Given the description of an element on the screen output the (x, y) to click on. 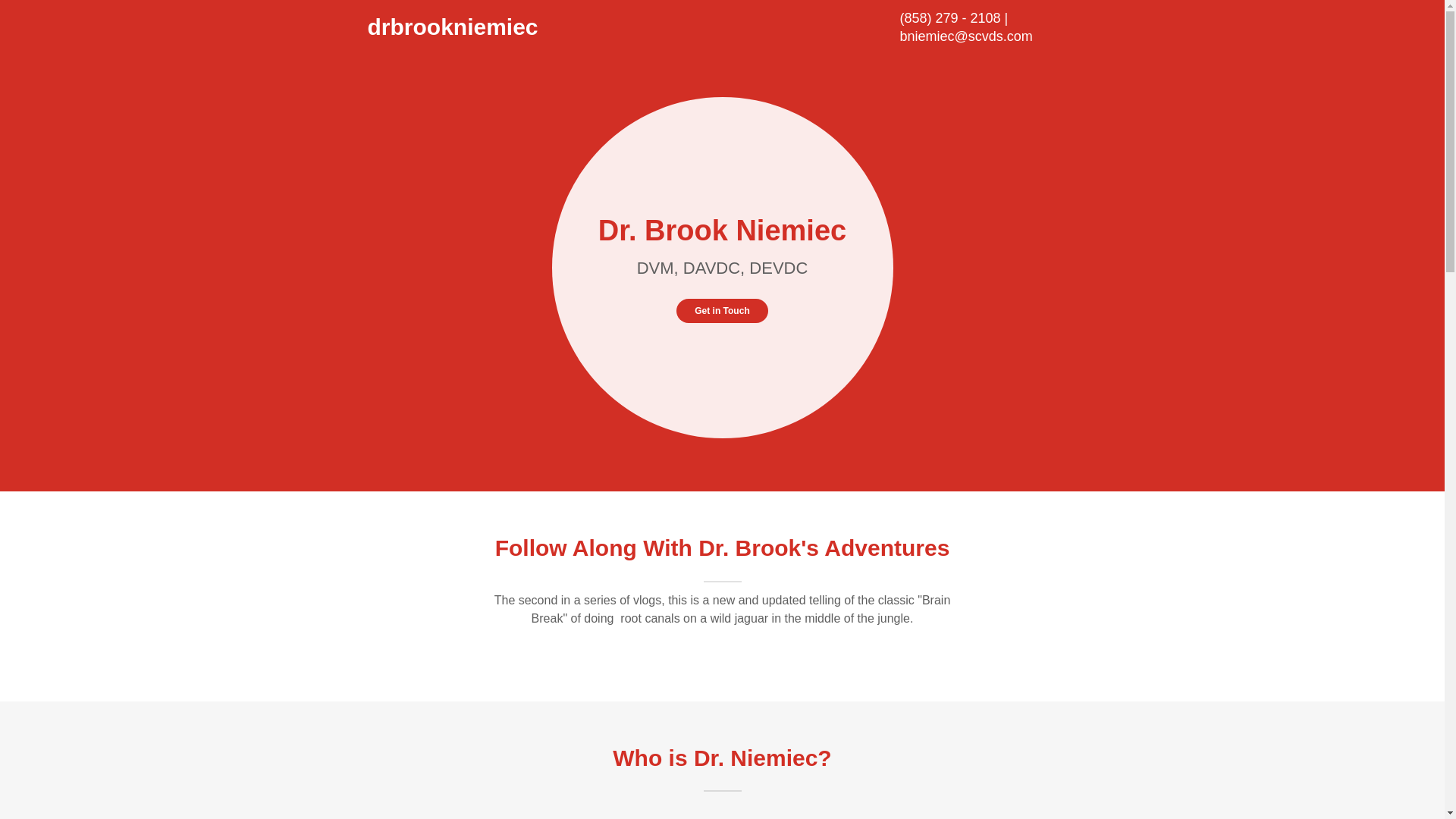
Get in Touch (722, 310)
drbrookniemiec (455, 30)
drbrookniemiec (455, 30)
